Given the description of an element on the screen output the (x, y) to click on. 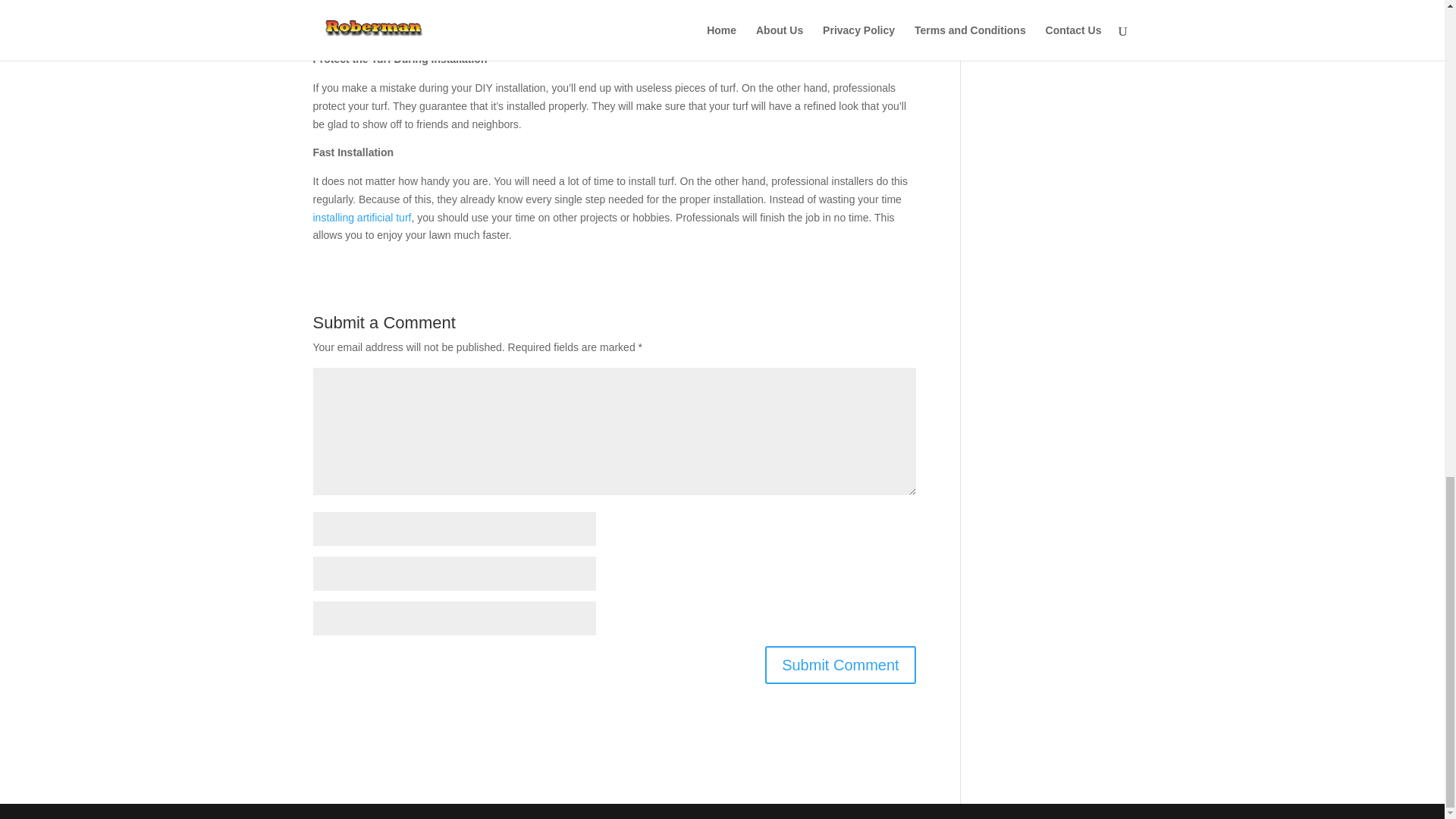
Submit Comment (840, 664)
Submit Comment (840, 664)
installing artificial turf (361, 217)
